Given the description of an element on the screen output the (x, y) to click on. 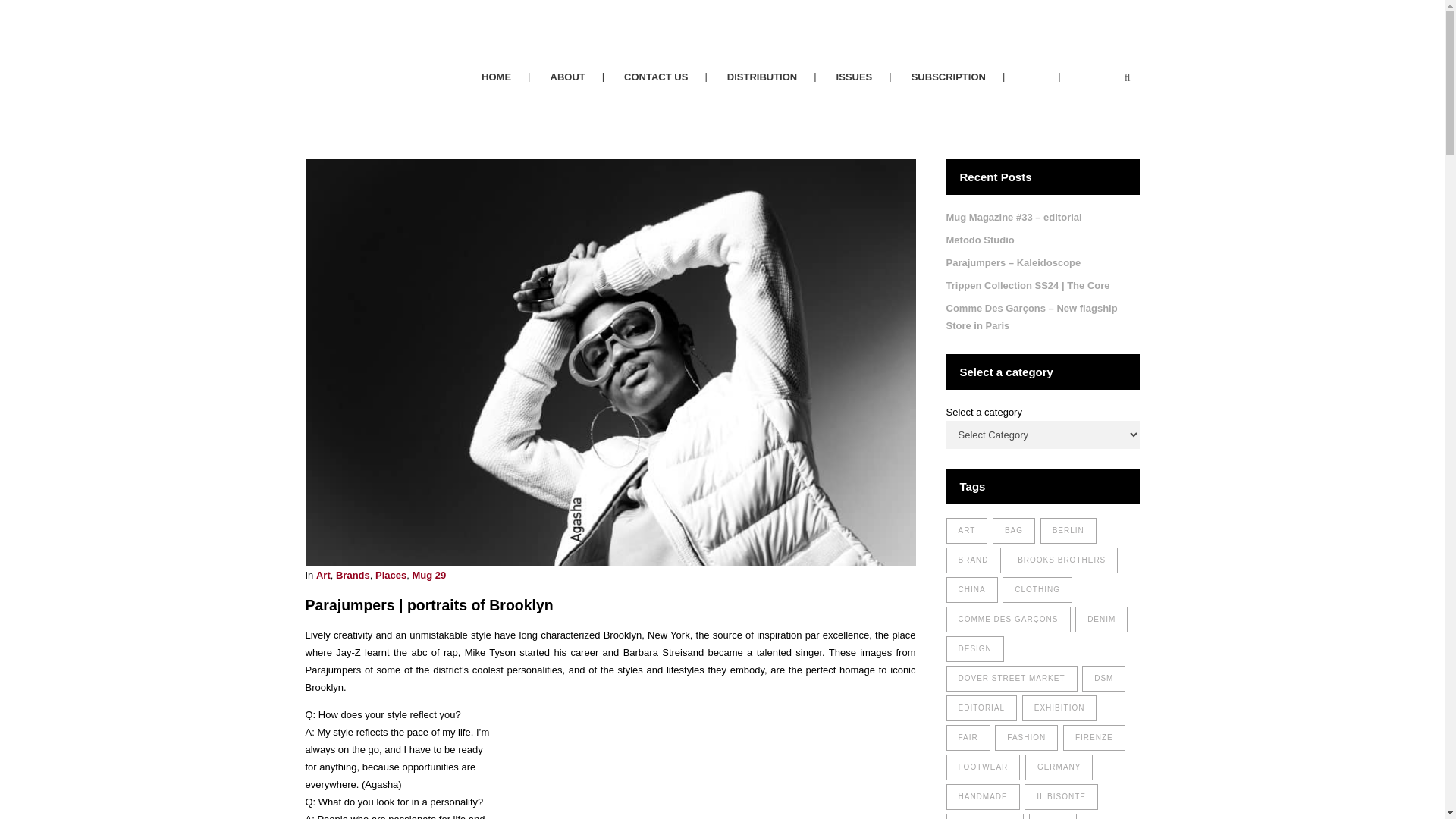
Metodo Studio (980, 239)
Brands (352, 574)
Places (390, 574)
ABOUT (568, 77)
HOME (496, 77)
ISSUES (854, 77)
Art (322, 574)
Mug 29 (428, 574)
CONTACT US (655, 77)
SUBSCRIPTION (948, 77)
DISTRIBUTION (762, 77)
